Given the description of an element on the screen output the (x, y) to click on. 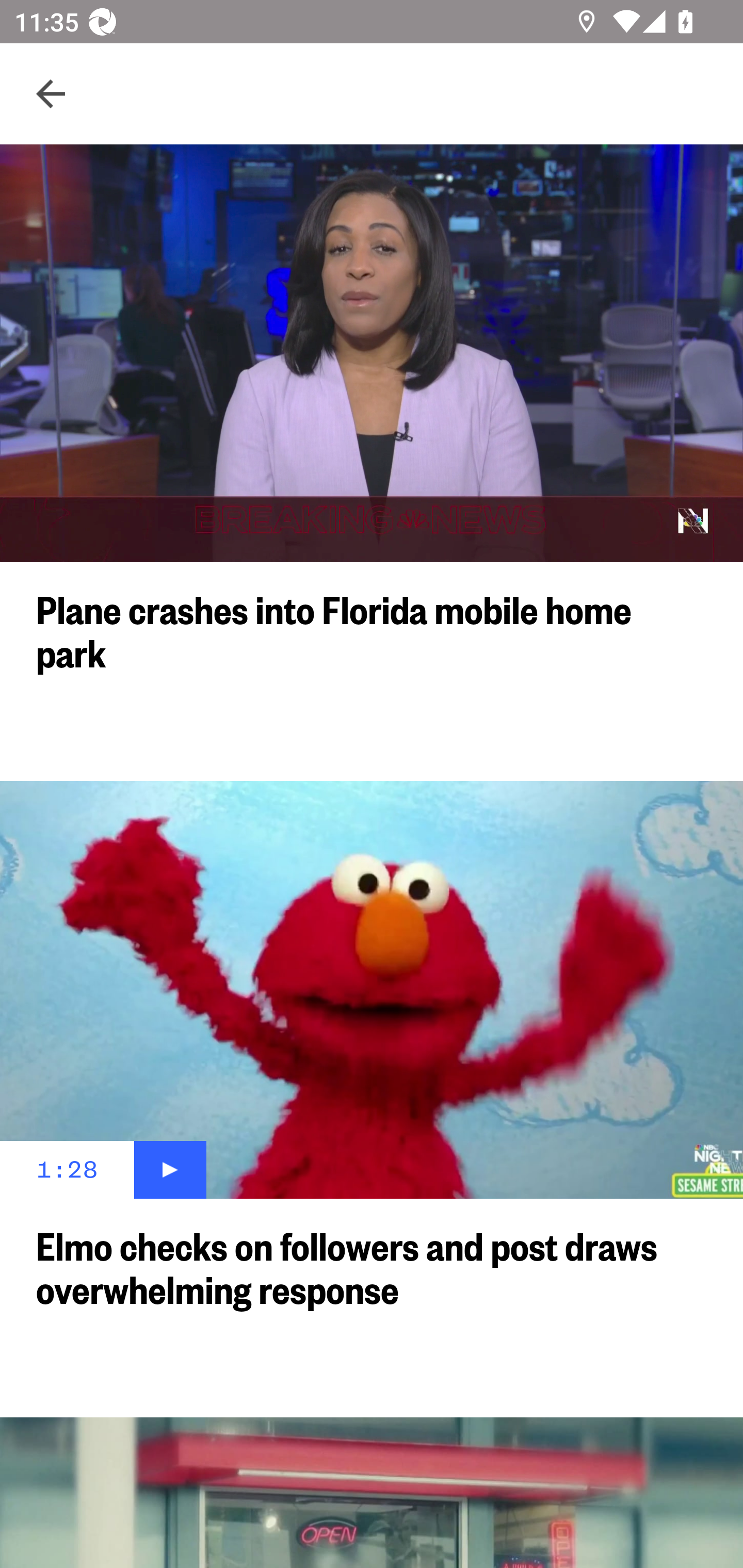
Navigate up (50, 93)
Video, Plane crashes into Florida mobile home park (371, 353)
